Given the description of an element on the screen output the (x, y) to click on. 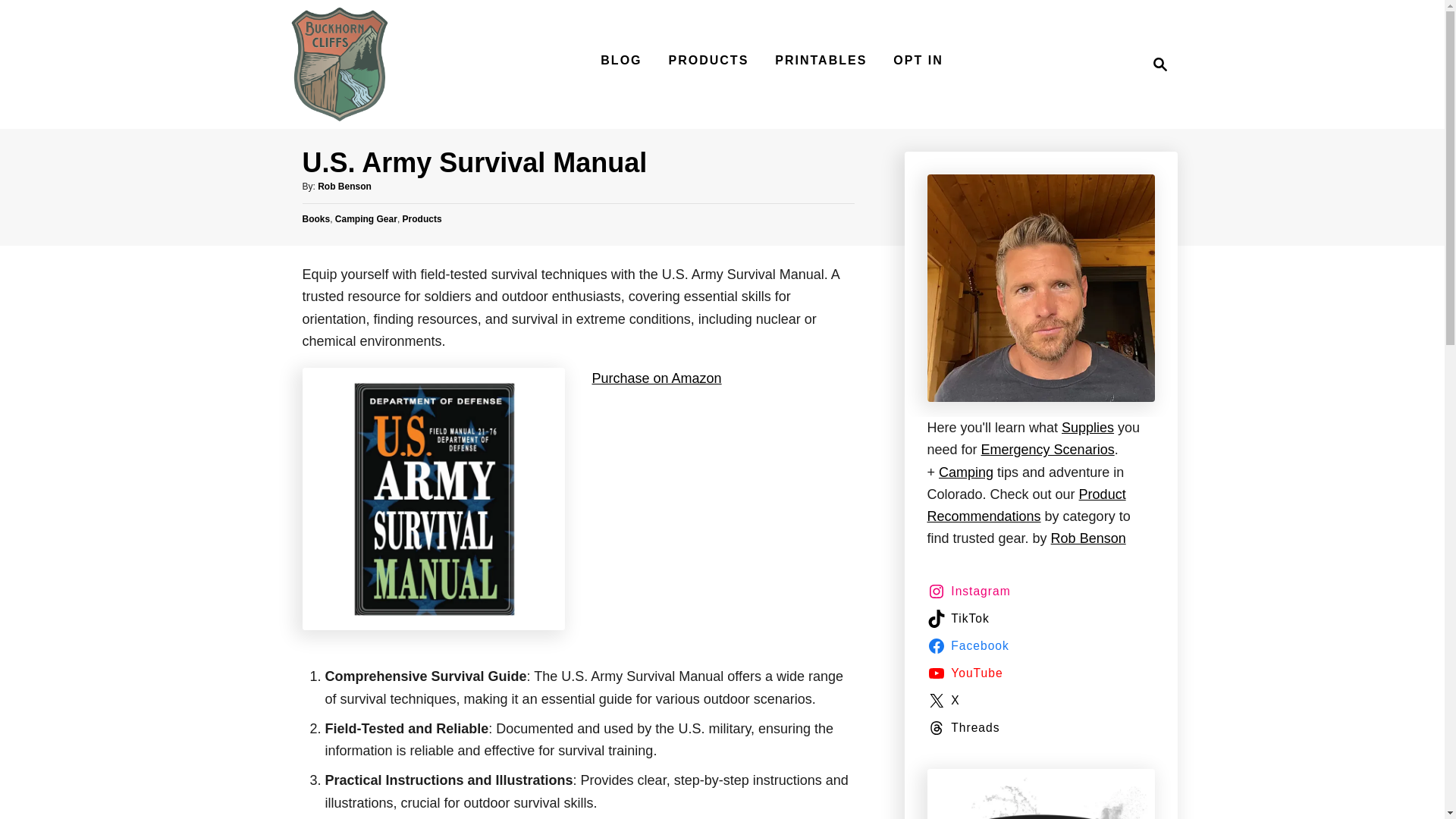
TikTok (960, 618)
Rob Benson (1088, 538)
Camping Gear (365, 218)
BLOG (620, 60)
PRODUCTS (709, 60)
Facebook (970, 646)
OPT IN (917, 60)
PRINTABLES (821, 60)
YouTube (967, 673)
Threads (966, 728)
